Given the description of an element on the screen output the (x, y) to click on. 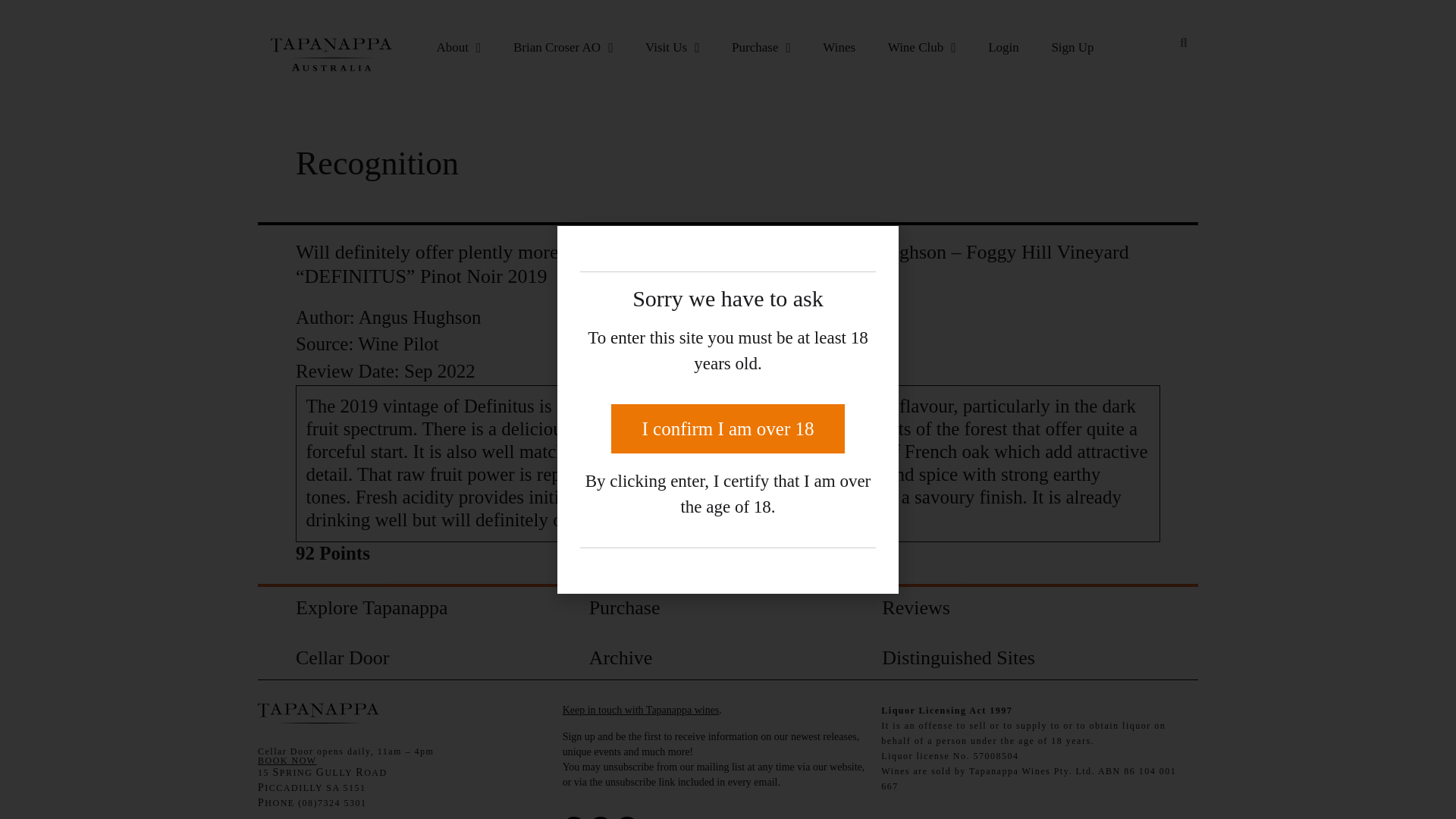
Brian Croser AO (562, 47)
Purchase (761, 47)
About (458, 47)
Visit Us (672, 47)
Login (1003, 47)
Sign Up (1072, 47)
Wines (838, 47)
Wine Club (920, 47)
